Given the description of an element on the screen output the (x, y) to click on. 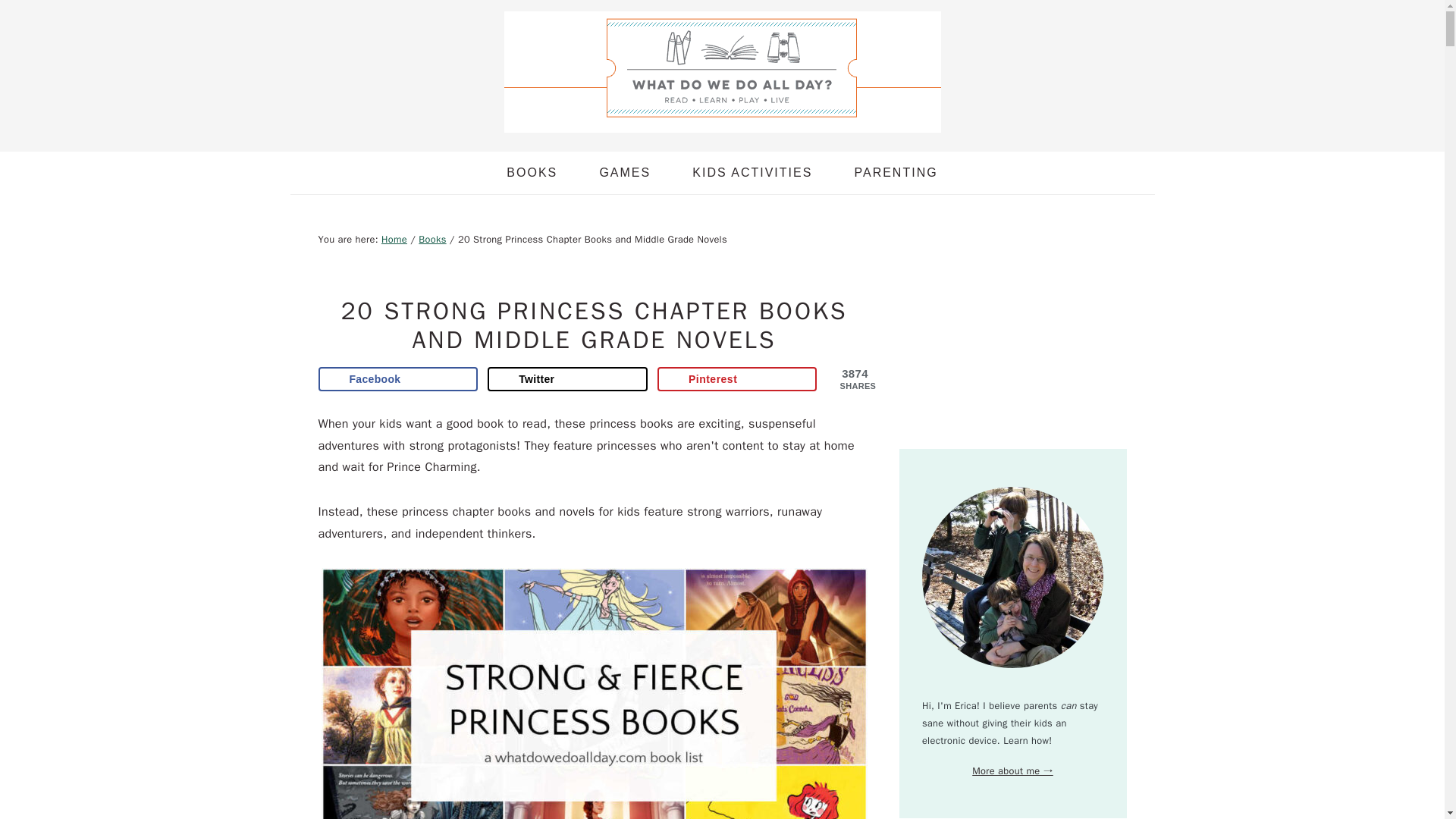
Books (432, 239)
PARENTING (895, 172)
What Do We Do All Day (721, 71)
Share on Facebook (398, 378)
KIDS ACTIVITIES (751, 172)
What Do We Do All Day (721, 119)
Share on X (567, 378)
BOOKS (531, 172)
Home (394, 239)
Save to Pinterest (737, 378)
GAMES (624, 172)
